Given the description of an element on the screen output the (x, y) to click on. 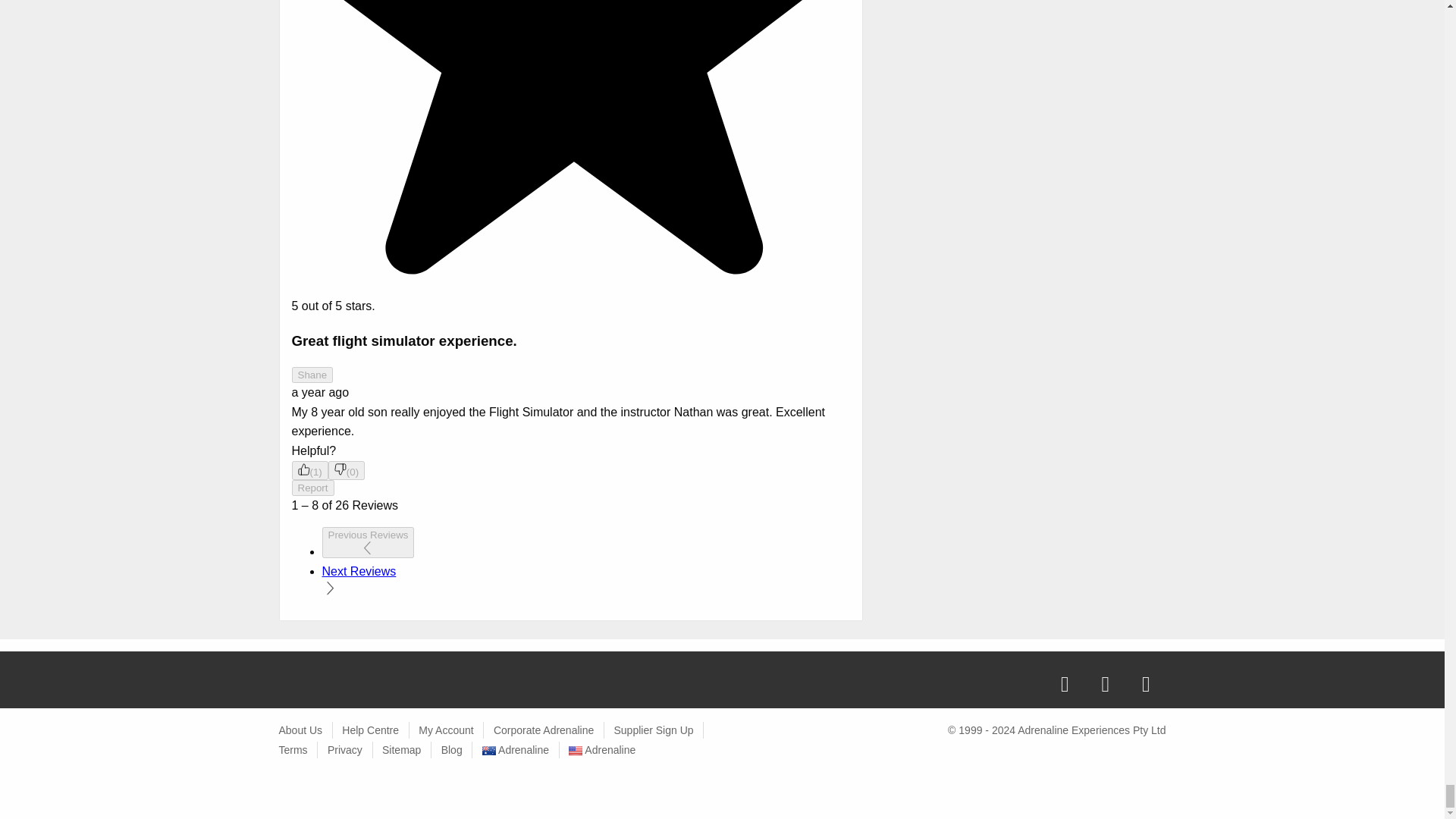
Corporate Adrenaline (543, 729)
Sitemap (400, 749)
About Us (301, 729)
Adrenaline Australia (514, 749)
Become a Supplier (652, 729)
Blog (452, 749)
Terms (293, 749)
Privacy (344, 749)
Adrenaline USA (601, 749)
Help Centre (370, 729)
My Account (446, 729)
